Given the description of an element on the screen output the (x, y) to click on. 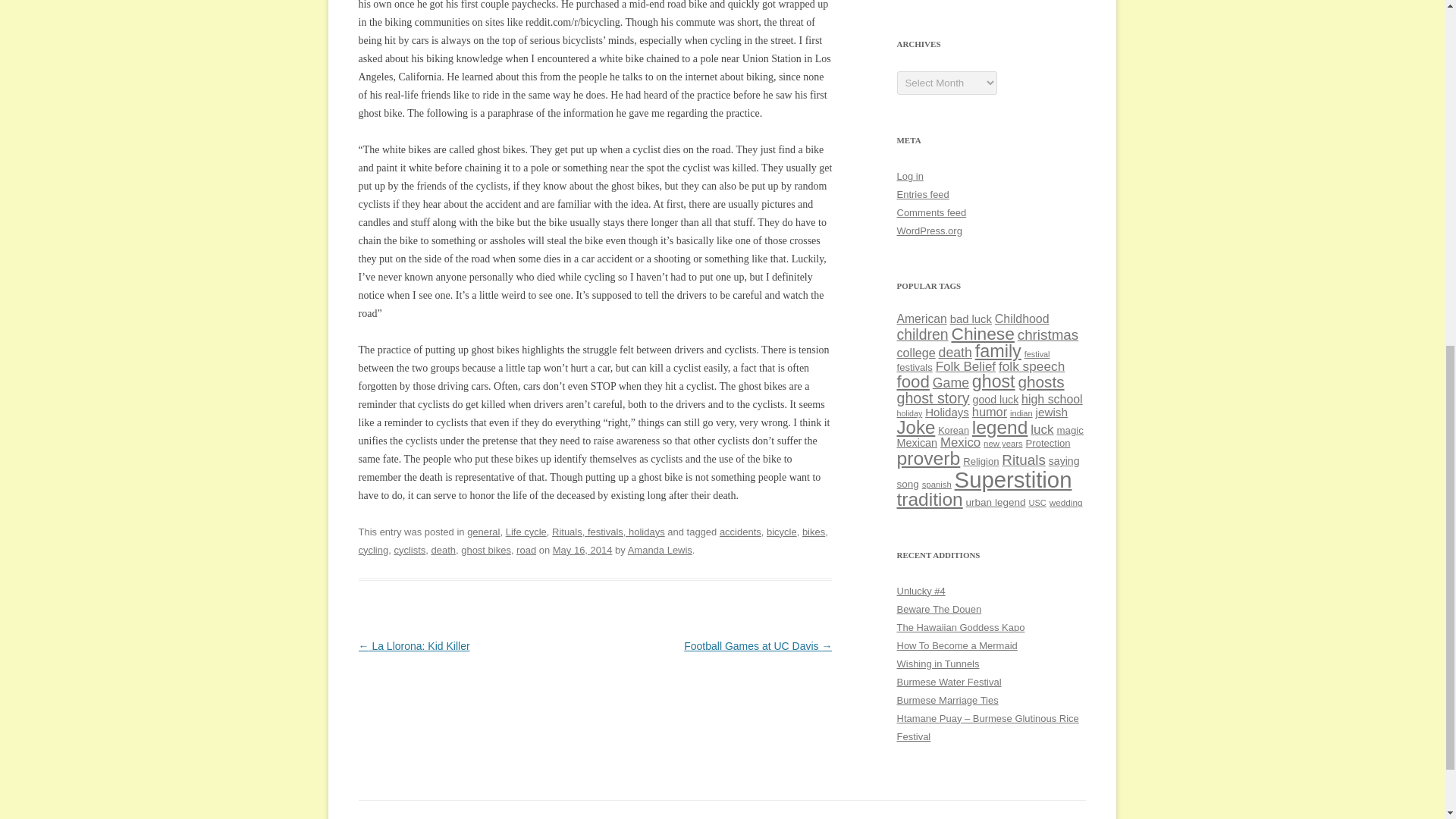
5:40 pm (582, 550)
christmas (1047, 334)
Comments feed (931, 212)
WordPress.org (928, 230)
bicycle (781, 531)
Amanda Lewis (660, 550)
family (998, 351)
accidents (740, 531)
cycling (373, 550)
American (921, 318)
Life cycle (526, 531)
food (912, 381)
Rituals, festivals, holidays (608, 531)
festivals (913, 367)
college (915, 352)
